Given the description of an element on the screen output the (x, y) to click on. 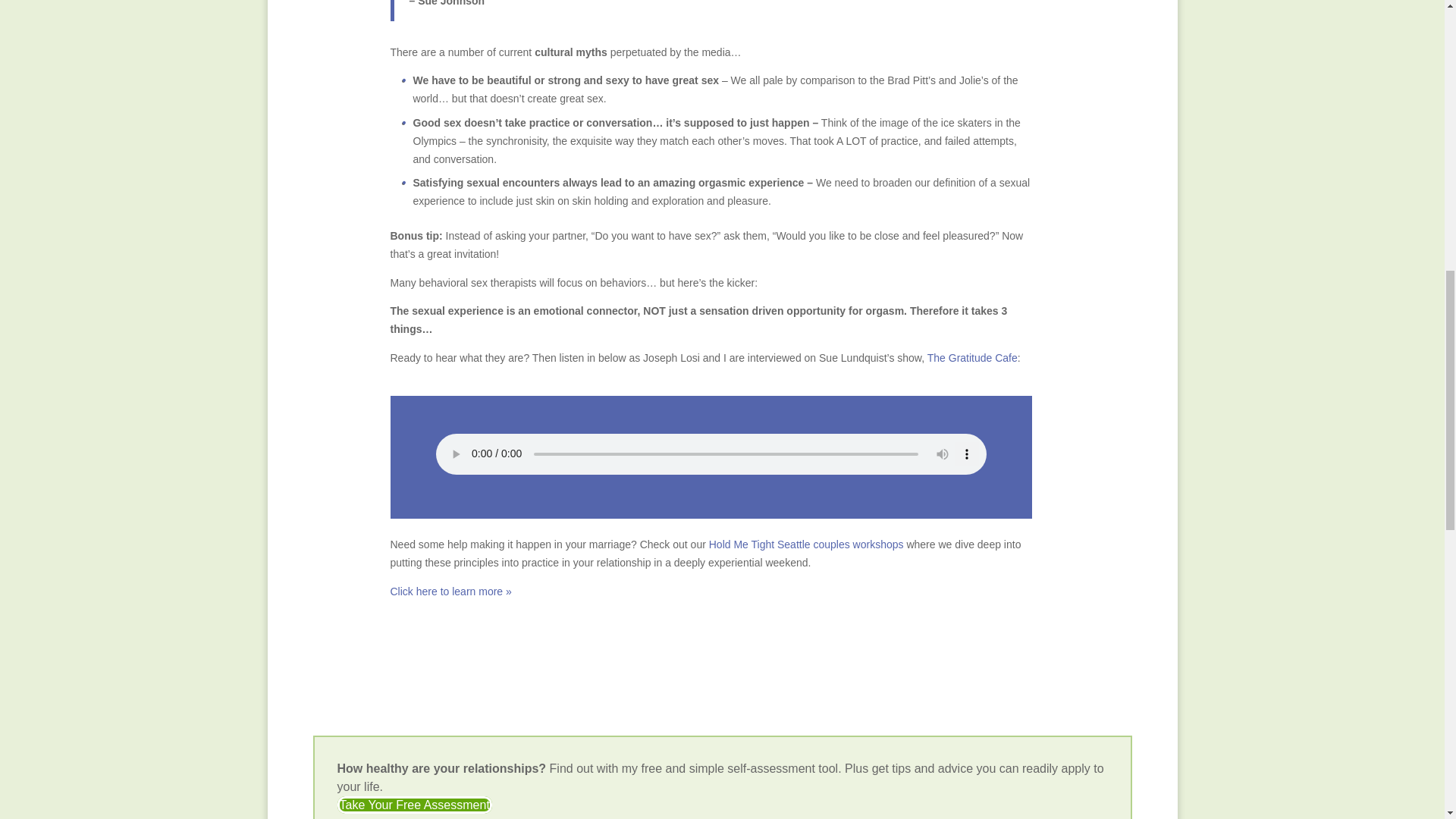
The Gratitude Cafe (972, 357)
Hold Me Tight Seattle couples workshops (806, 544)
Take Your Free Assessment (414, 805)
